Given the description of an element on the screen output the (x, y) to click on. 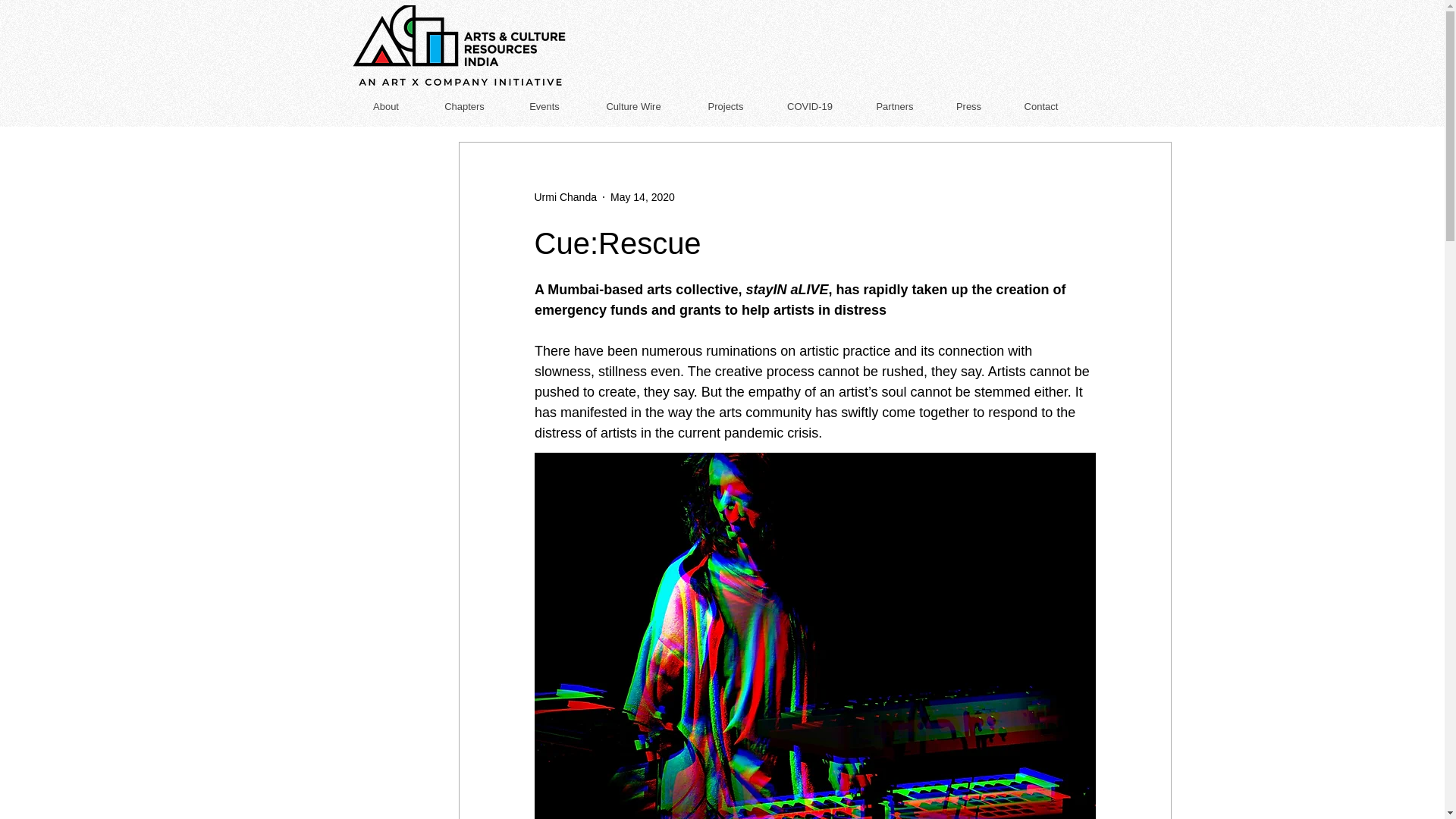
Chapters (464, 106)
Culture Wire (632, 106)
About (385, 106)
Press (968, 106)
May 14, 2020 (642, 196)
Urmi Chanda (564, 197)
Events (543, 106)
Contact (1040, 106)
Urmi Chanda (564, 197)
